Given the description of an element on the screen output the (x, y) to click on. 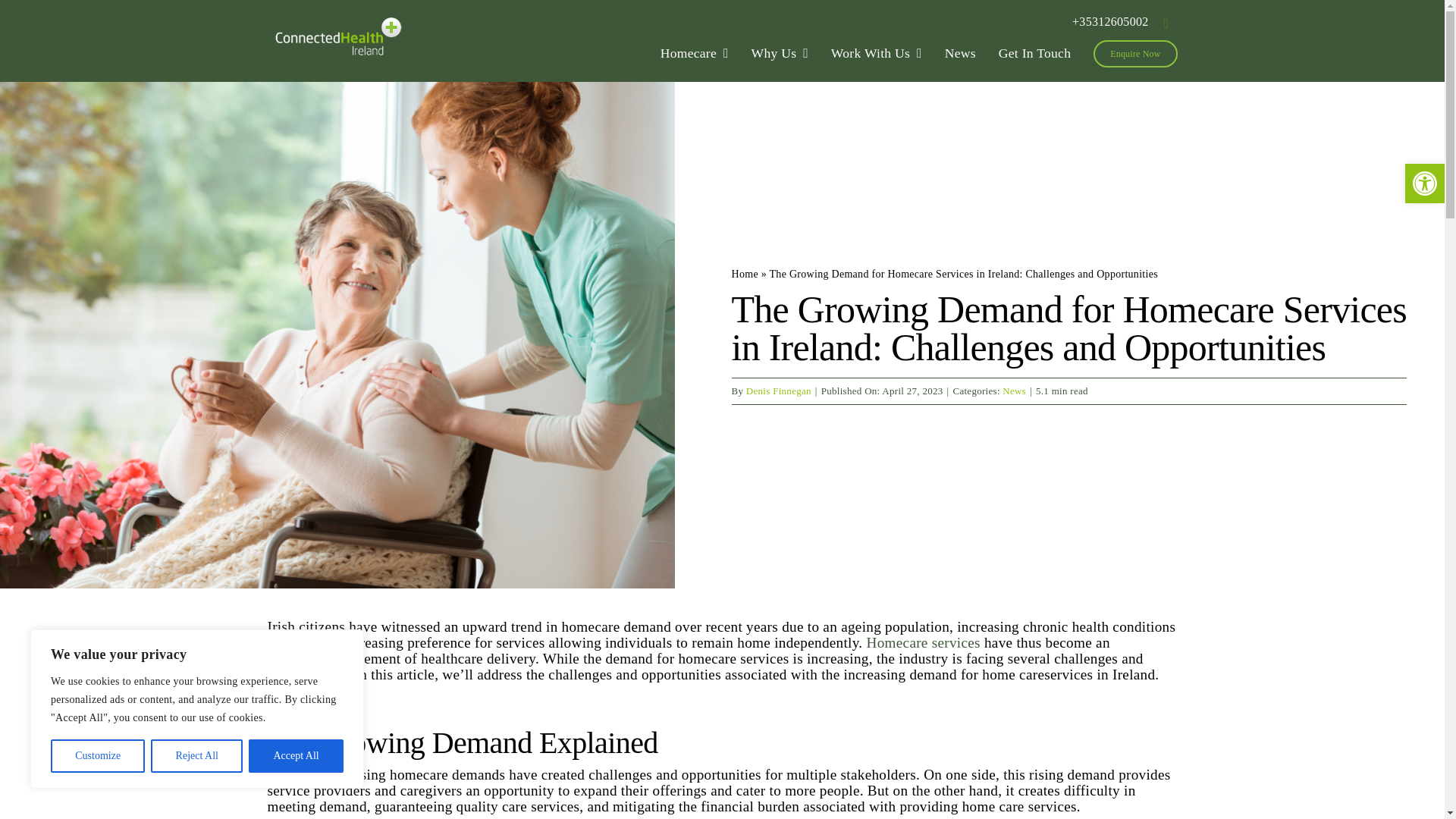
Accept All (295, 756)
Homecare (695, 53)
Accessibility Tools (1424, 183)
Customize (97, 756)
Posts by Denis Finnegan (777, 390)
Reject All (197, 756)
